Given the description of an element on the screen output the (x, y) to click on. 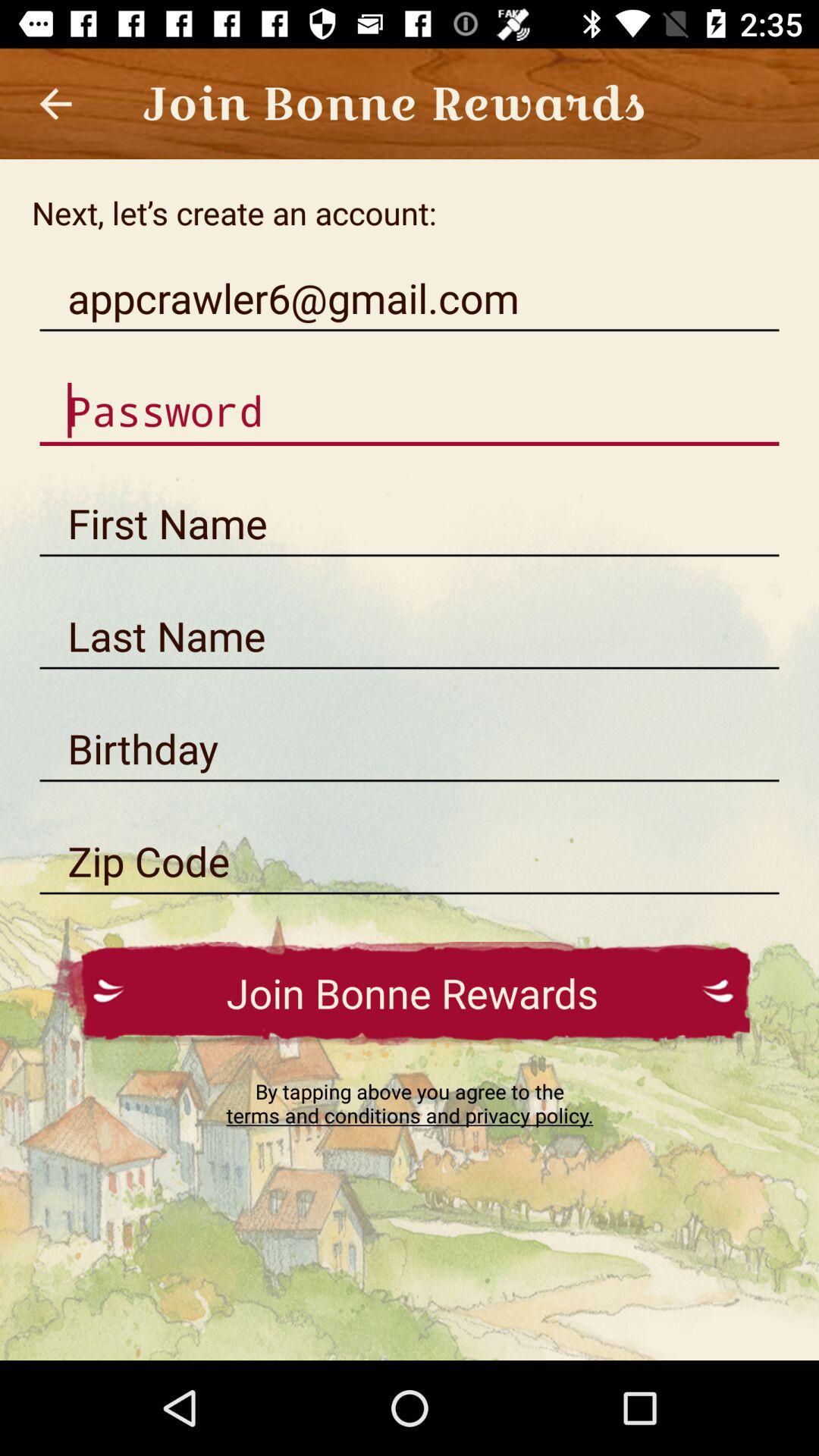
insert postal code (409, 861)
